Given the description of an element on the screen output the (x, y) to click on. 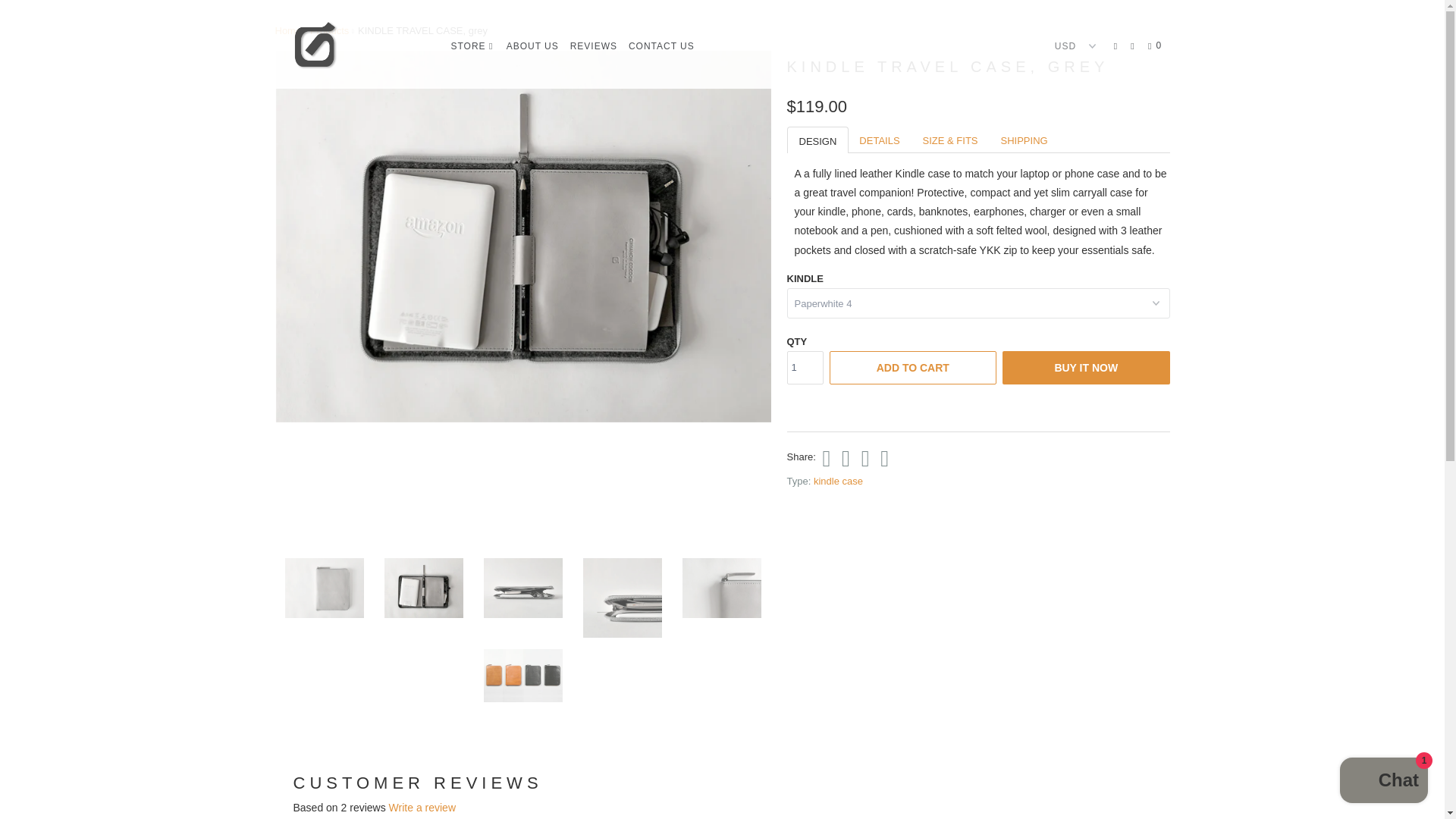
kindle case (838, 480)
Products (329, 30)
0 (1155, 45)
cinnamon cocoon (352, 44)
cinnamon cocoon (288, 30)
CONTACT US (661, 45)
STORE (471, 45)
1 (805, 367)
ABOUT US (532, 45)
REVIEWS (593, 45)
